Given the description of an element on the screen output the (x, y) to click on. 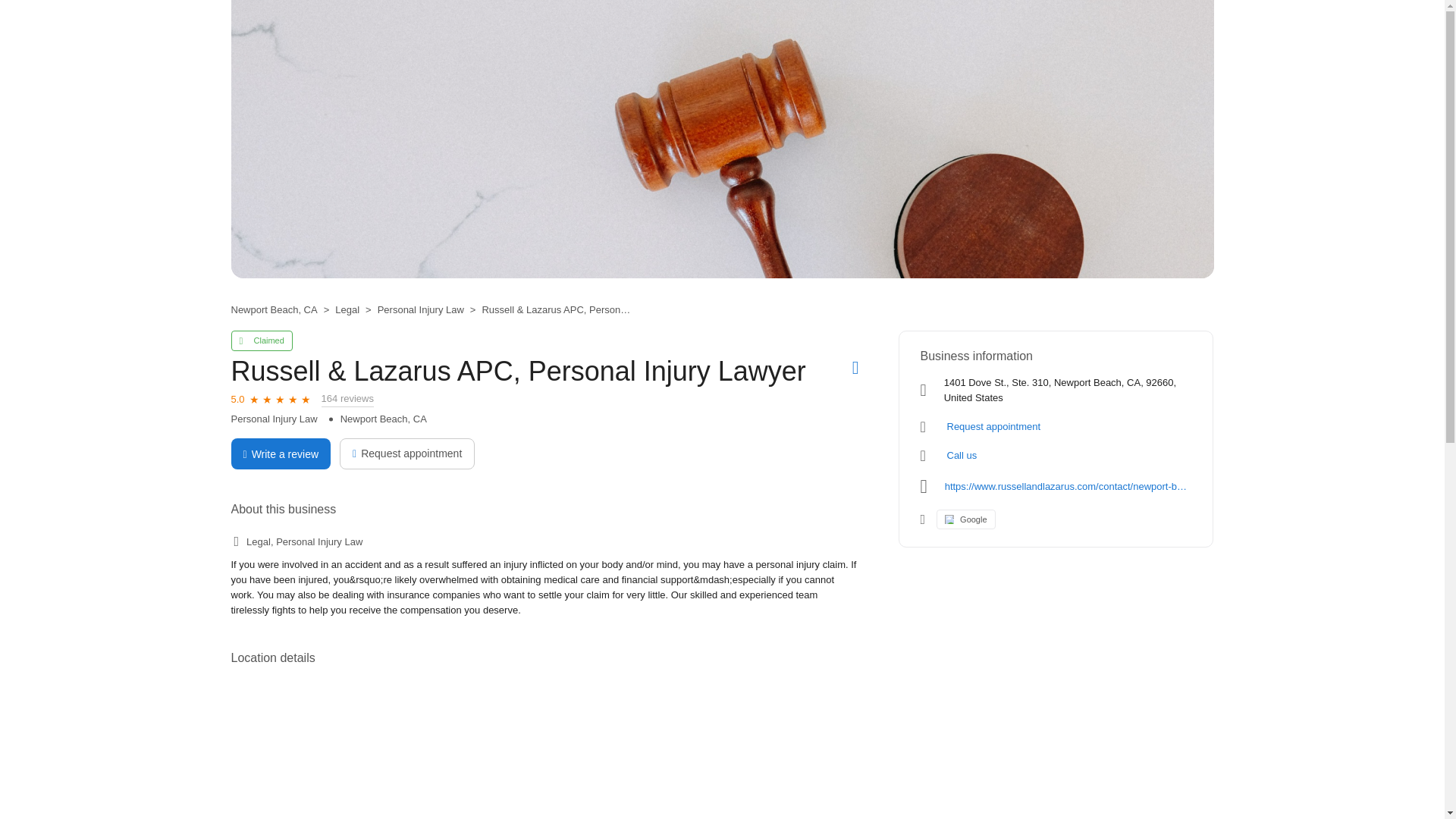
Call us (961, 455)
Write a review (280, 453)
Request appointment (406, 453)
164 reviews (347, 399)
Google (965, 519)
